Given the description of an element on the screen output the (x, y) to click on. 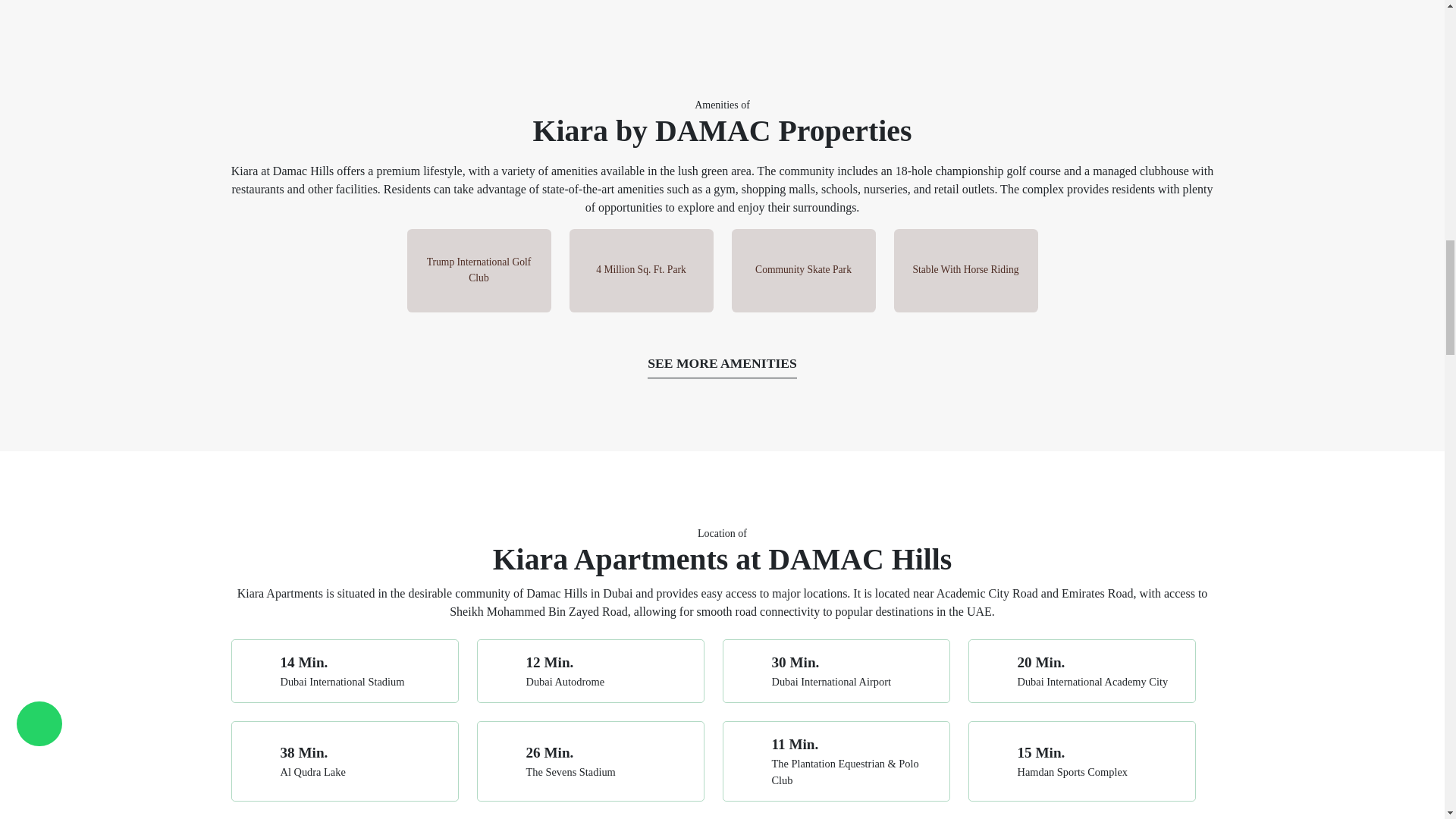
SEE MORE AMENITIES (721, 363)
